Given the description of an element on the screen output the (x, y) to click on. 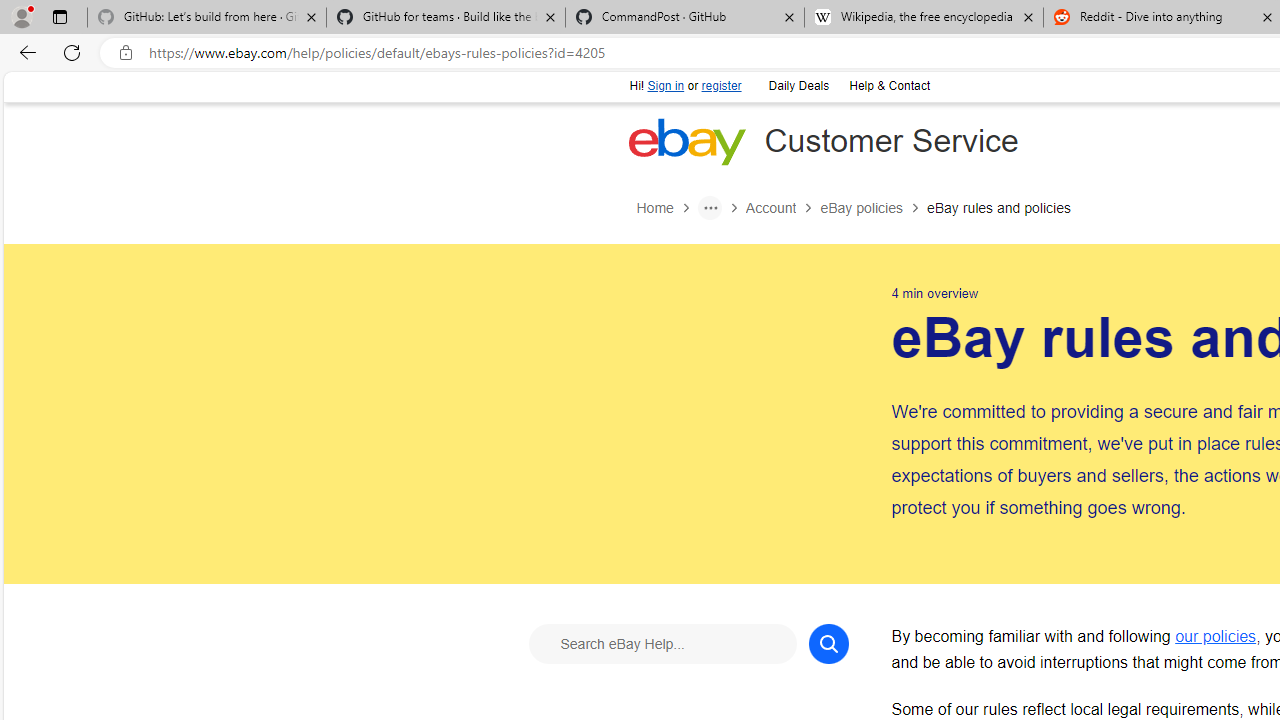
eBay rules and policies (998, 208)
Account (770, 208)
eBay policies (861, 208)
our policies (1215, 636)
Wikipedia, the free encyclopedia (924, 17)
Daily Deals (798, 86)
eBay Home (687, 141)
register (721, 85)
